Given the description of an element on the screen output the (x, y) to click on. 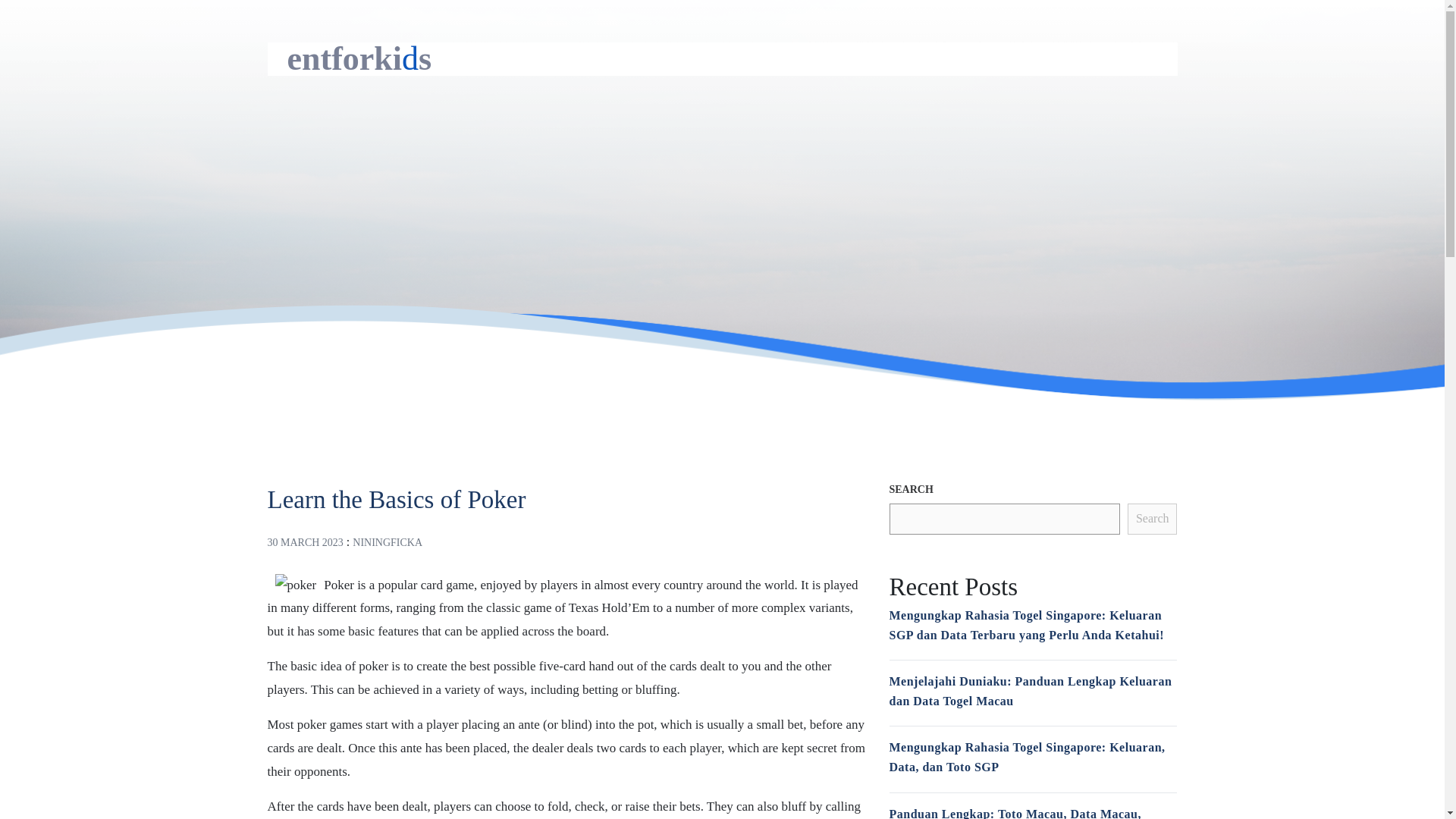
30 MARCH 2023 (304, 542)
entforkids (358, 58)
Search (1151, 518)
NININGFICKA (387, 542)
